Given the description of an element on the screen output the (x, y) to click on. 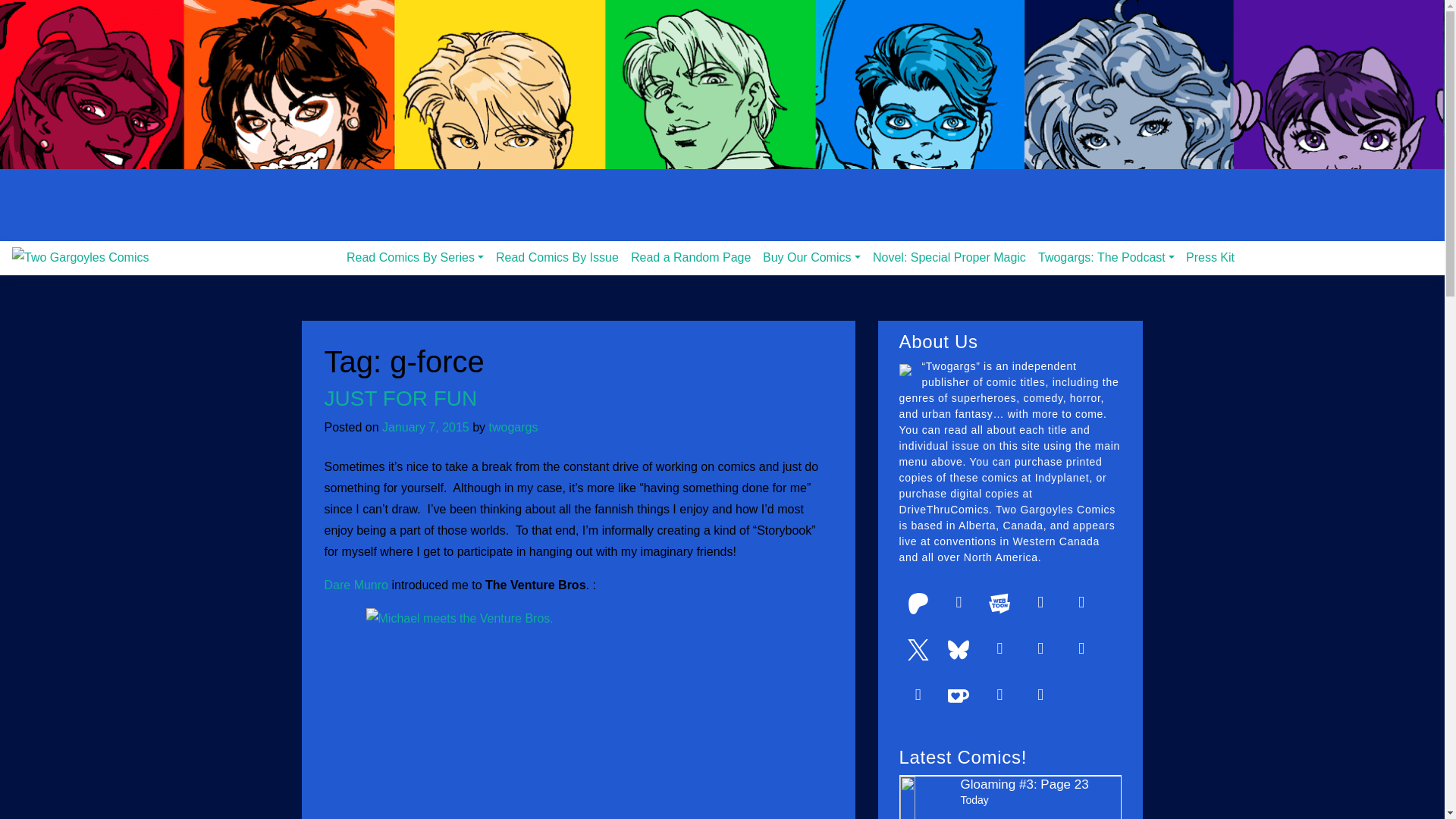
Press Kit (1209, 257)
Novel: Special Proper Magic (949, 257)
Novel: Special Proper Magic (949, 257)
JUST FOR FUN (400, 398)
twogargs (513, 427)
Twogargs: The Podcast (1106, 257)
Read a Random Page (690, 257)
Read a Random Page (690, 257)
Buy Our Comics (811, 257)
Buy Our Comics (811, 257)
